Given the description of an element on the screen output the (x, y) to click on. 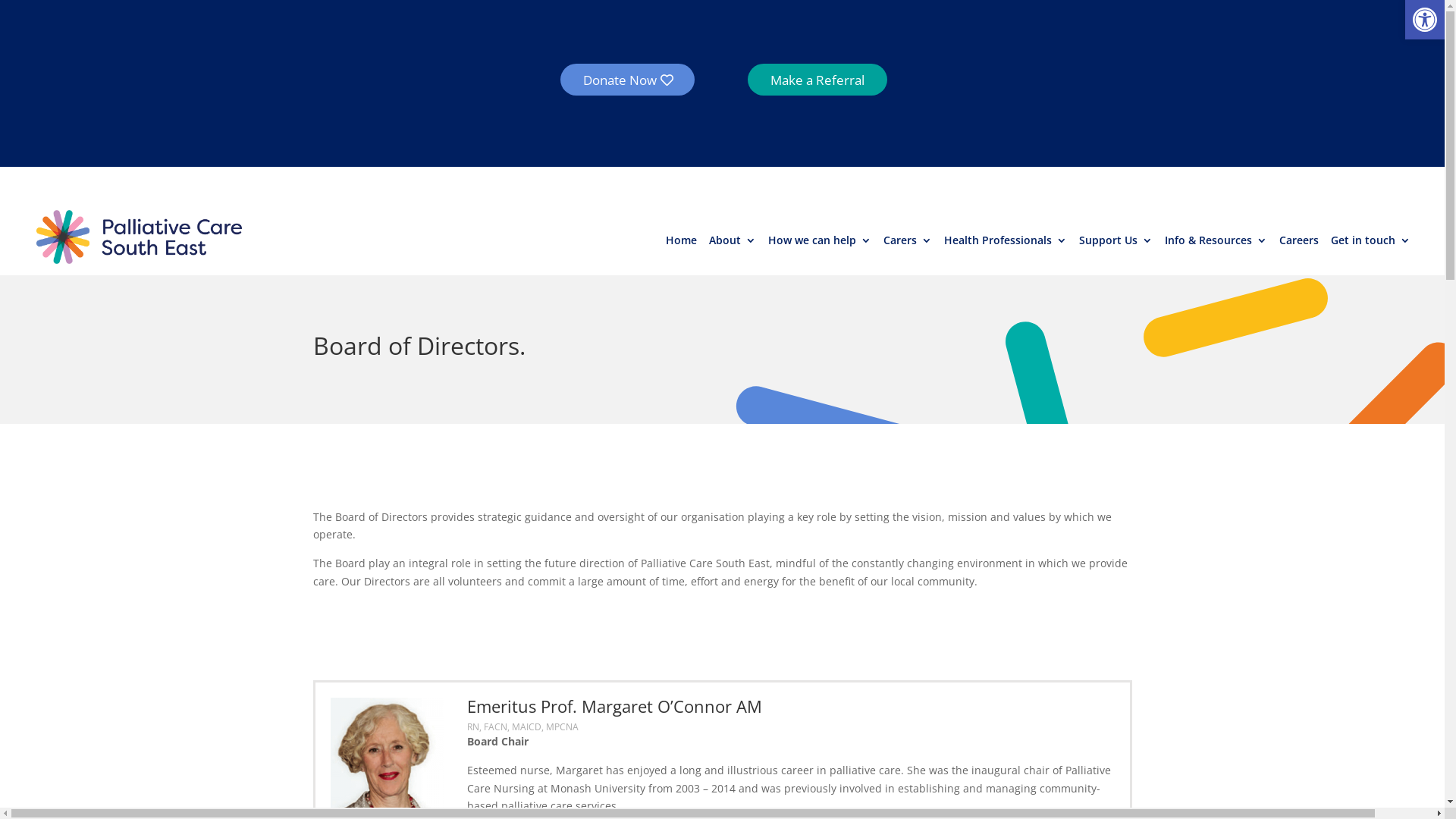
Health Professionals Element type: text (1005, 243)
Open toolbar
Accessibility Tools Element type: text (1424, 19)
Careers Element type: text (1298, 243)
PCSE-PRIMARY-LOGO Element type: hover (138, 236)
Get in touch Element type: text (1370, 243)
How we can help Element type: text (819, 243)
About Element type: text (732, 243)
Carers Element type: text (907, 243)
Donate Now Element type: text (627, 79)
Info & Resources Element type: text (1215, 243)
Home Element type: text (680, 243)
Support Us Element type: text (1115, 243)
Make a Referral Element type: text (817, 79)
